Given the description of an element on the screen output the (x, y) to click on. 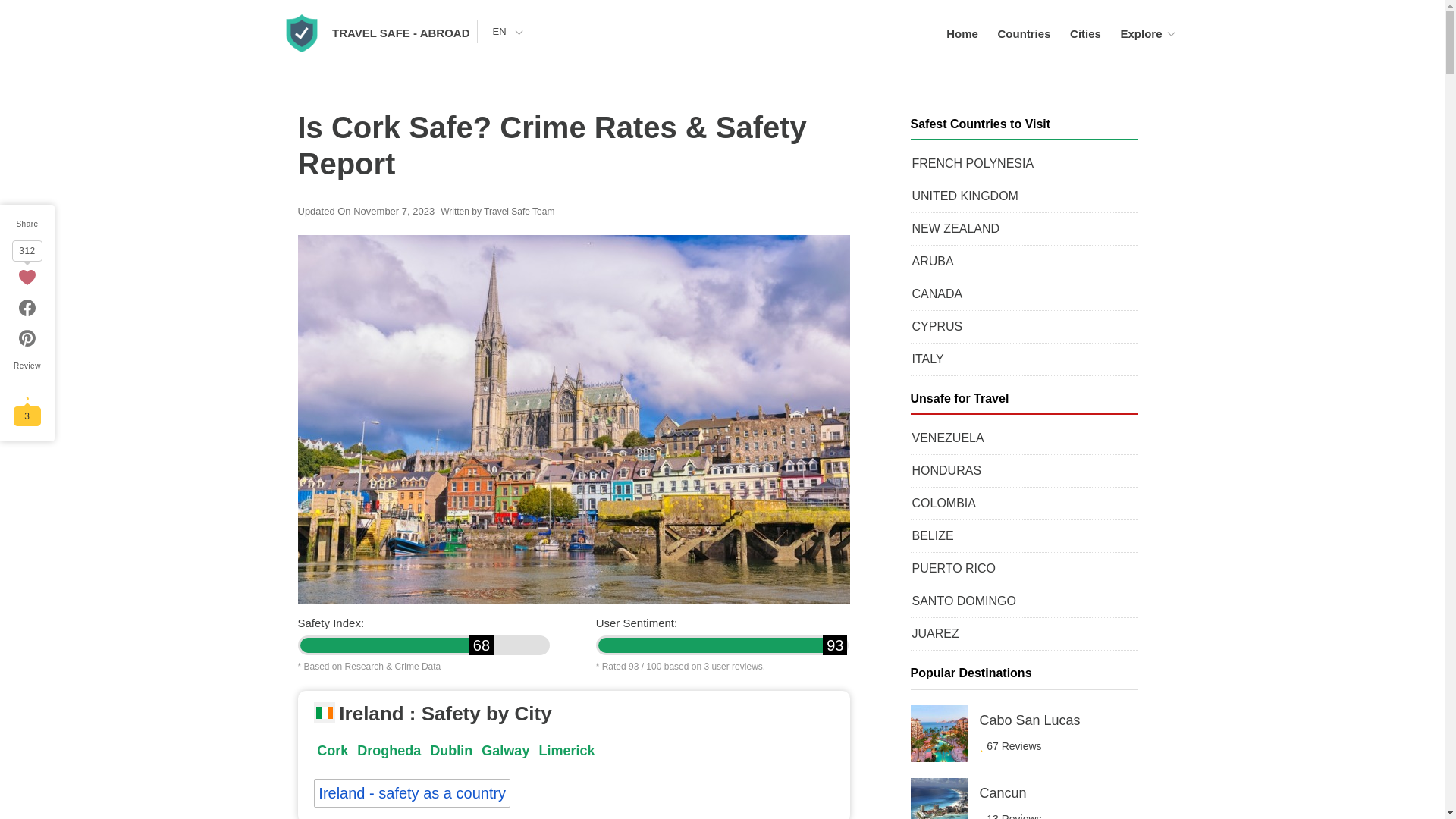
Galway (505, 750)
Countries (1023, 33)
TRAVEL SAFE - ABROAD (399, 32)
Drogheda (388, 750)
Drogheda Safety Review (388, 750)
Galway Safety Review (505, 750)
Cork Safety Review (332, 750)
Home (962, 33)
Cities (1085, 33)
Ireland - safety as a country (412, 792)
Explore (1140, 33)
Limerick (565, 750)
Dublin (451, 750)
Cork (332, 750)
Dublin Safety Review (451, 750)
